Given the description of an element on the screen output the (x, y) to click on. 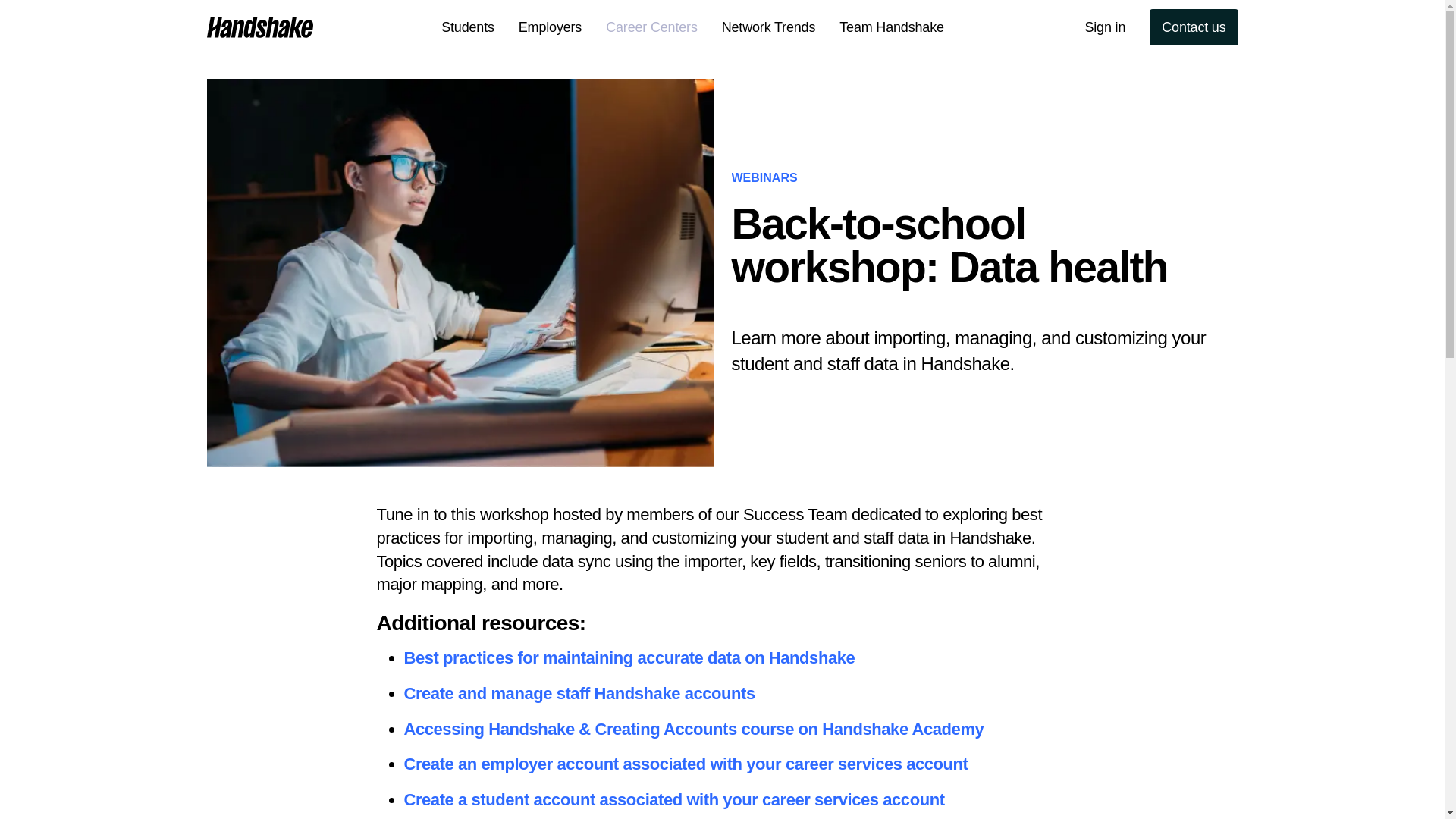
Contact us (1193, 27)
Best practices for maintaining accurate data on Handshake (628, 657)
Sign in (1104, 26)
Homepage (259, 26)
Students (467, 26)
Network Trends (769, 26)
Employers (550, 26)
Blog (337, 26)
Create and manage staff Handshake accounts (578, 692)
Career Centers (652, 26)
Additional resources: (721, 623)
WEBINARS (763, 177)
